Given the description of an element on the screen output the (x, y) to click on. 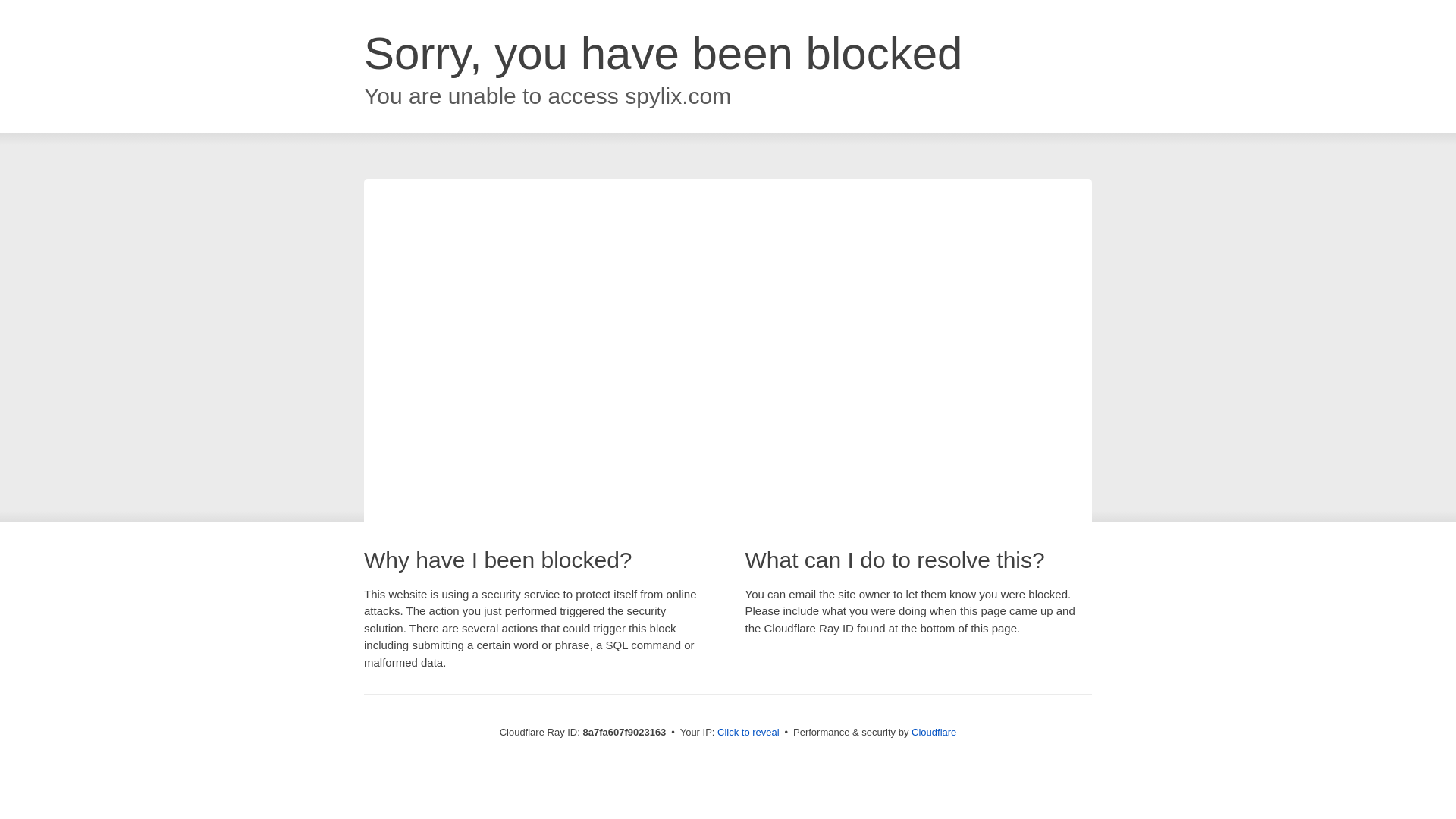
Cloudflare (933, 731)
Click to reveal (747, 732)
